Given the description of an element on the screen output the (x, y) to click on. 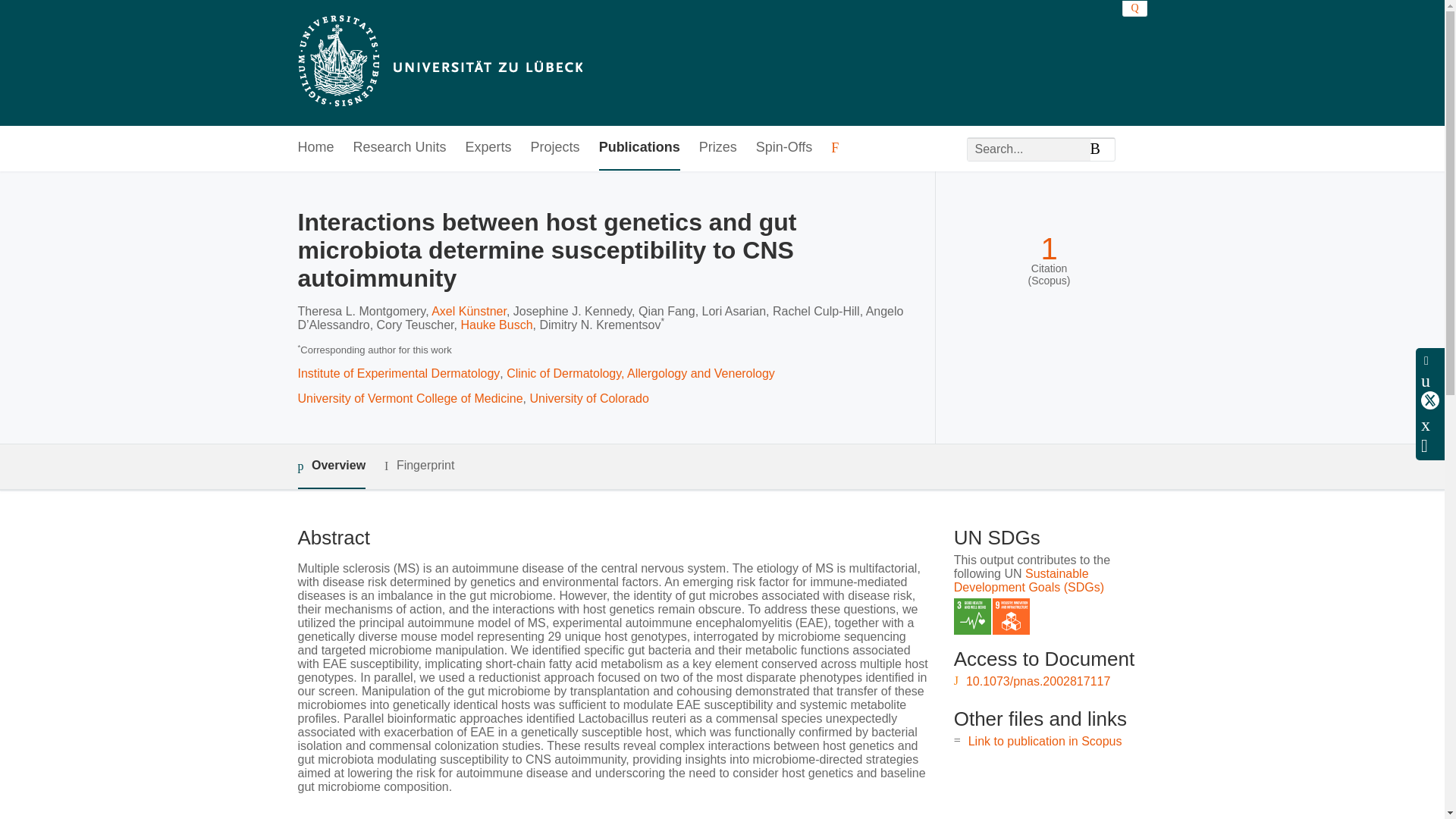
SDG 9 - Industry, Innovation, and Infrastructure (1010, 616)
Fingerprint (419, 465)
SDG 3 - Good Health and Well-being (972, 616)
Experts (488, 148)
Overview (331, 466)
Research Units (399, 148)
Clinic of Dermatology, Allergology and Venerology (640, 373)
Institute of Experimental Dermatology (398, 373)
Projects (555, 148)
University of Colorado (588, 398)
Hauke Busch (496, 324)
University of Luebeck Home (438, 62)
Link to publication in Scopus (1045, 740)
Spin-Offs (783, 148)
